Given the description of an element on the screen output the (x, y) to click on. 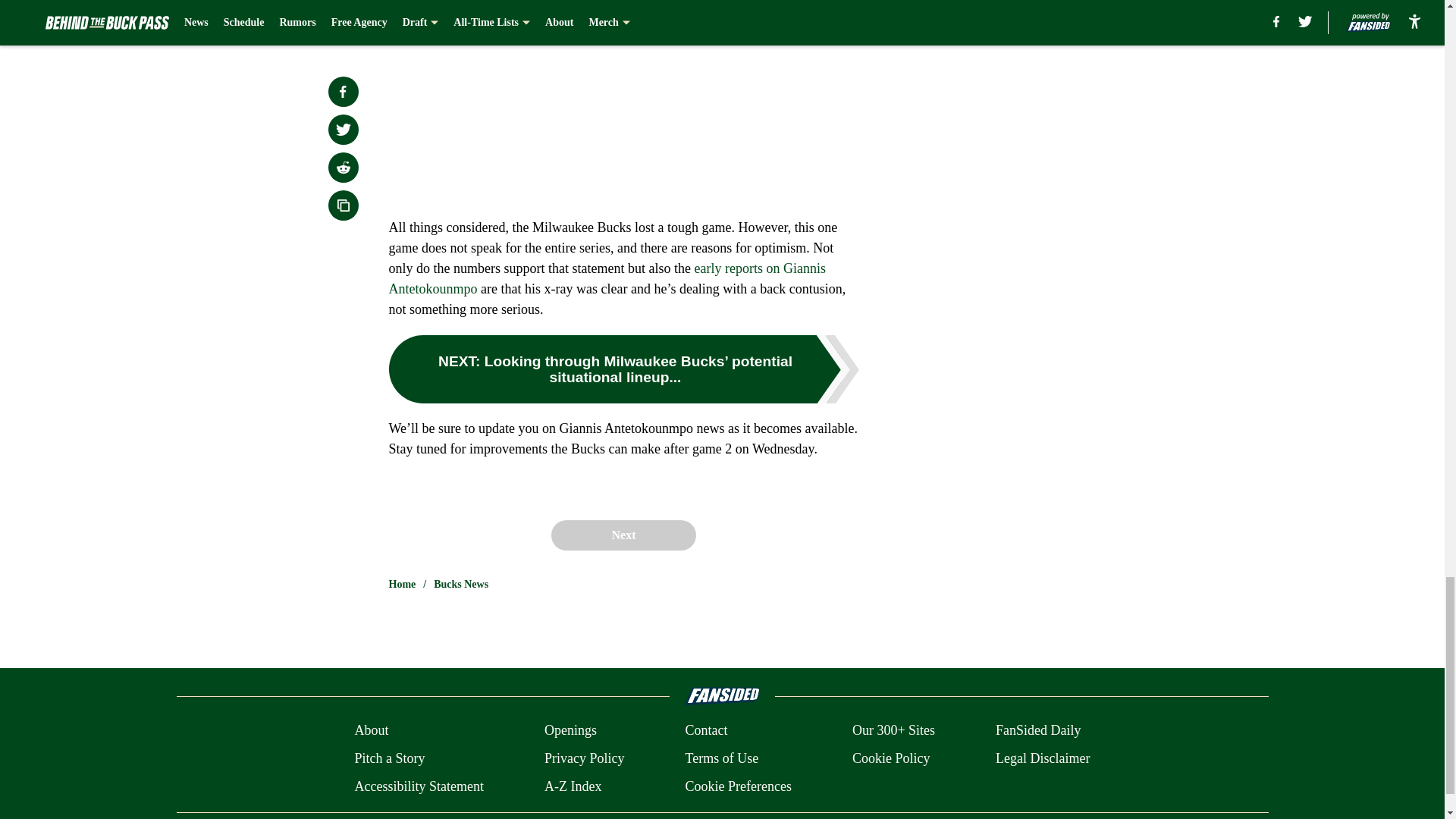
Bucks News (460, 584)
Openings (570, 730)
early reports on Giannis Antetokounmpo (606, 278)
About (370, 730)
Next (622, 535)
Home (401, 584)
